Given the description of an element on the screen output the (x, y) to click on. 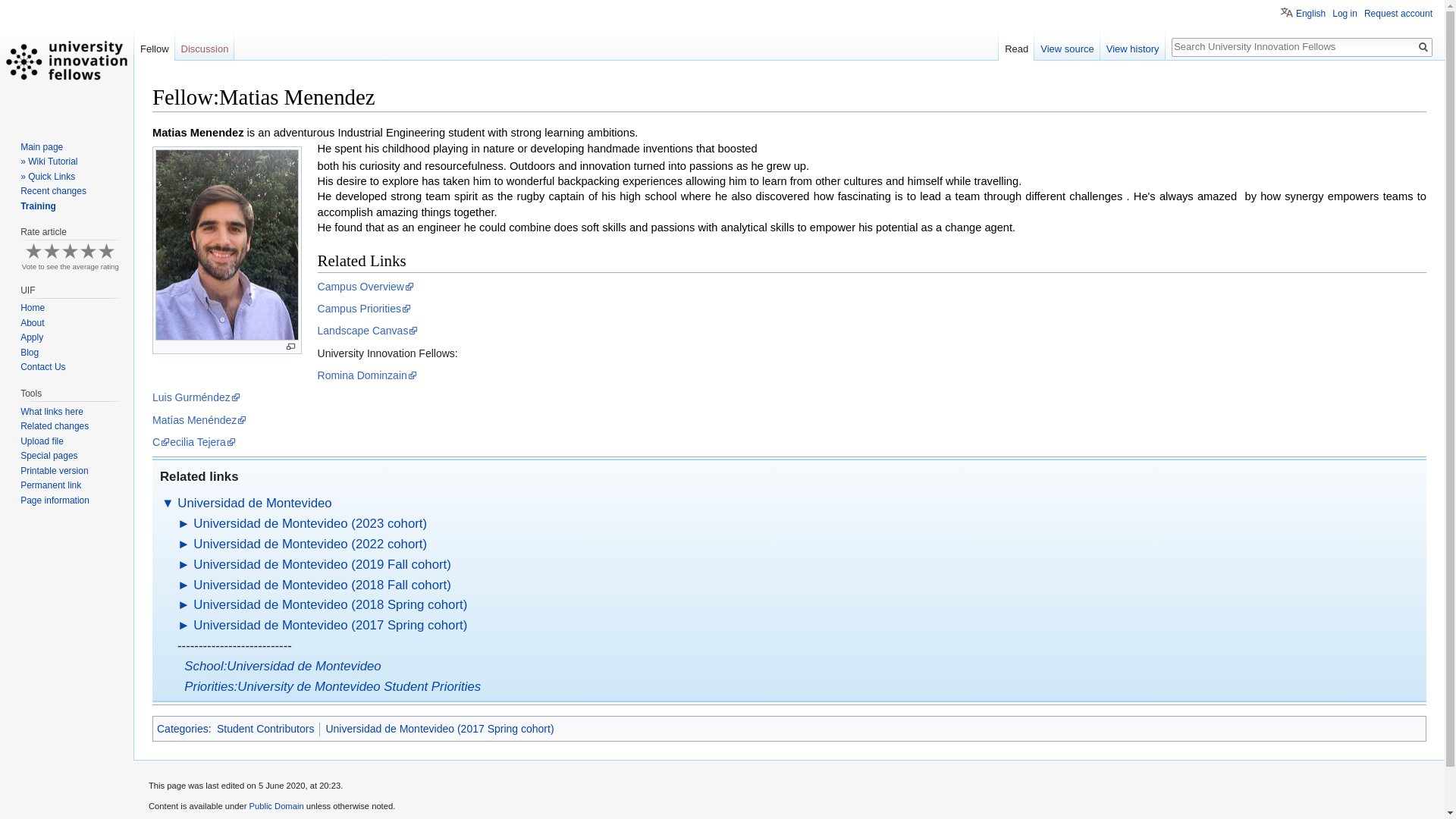
ecilia Tejera (202, 441)
expand (183, 625)
expand (183, 604)
Landscape Canvas (368, 330)
Romina Dominzain (366, 375)
Discussion (204, 45)
English (1302, 11)
Log in (1344, 13)
Student Contributors (265, 728)
collapse (167, 503)
expand (183, 523)
Go (1423, 46)
Fellow (153, 45)
Request account (1398, 13)
